Given the description of an element on the screen output the (x, y) to click on. 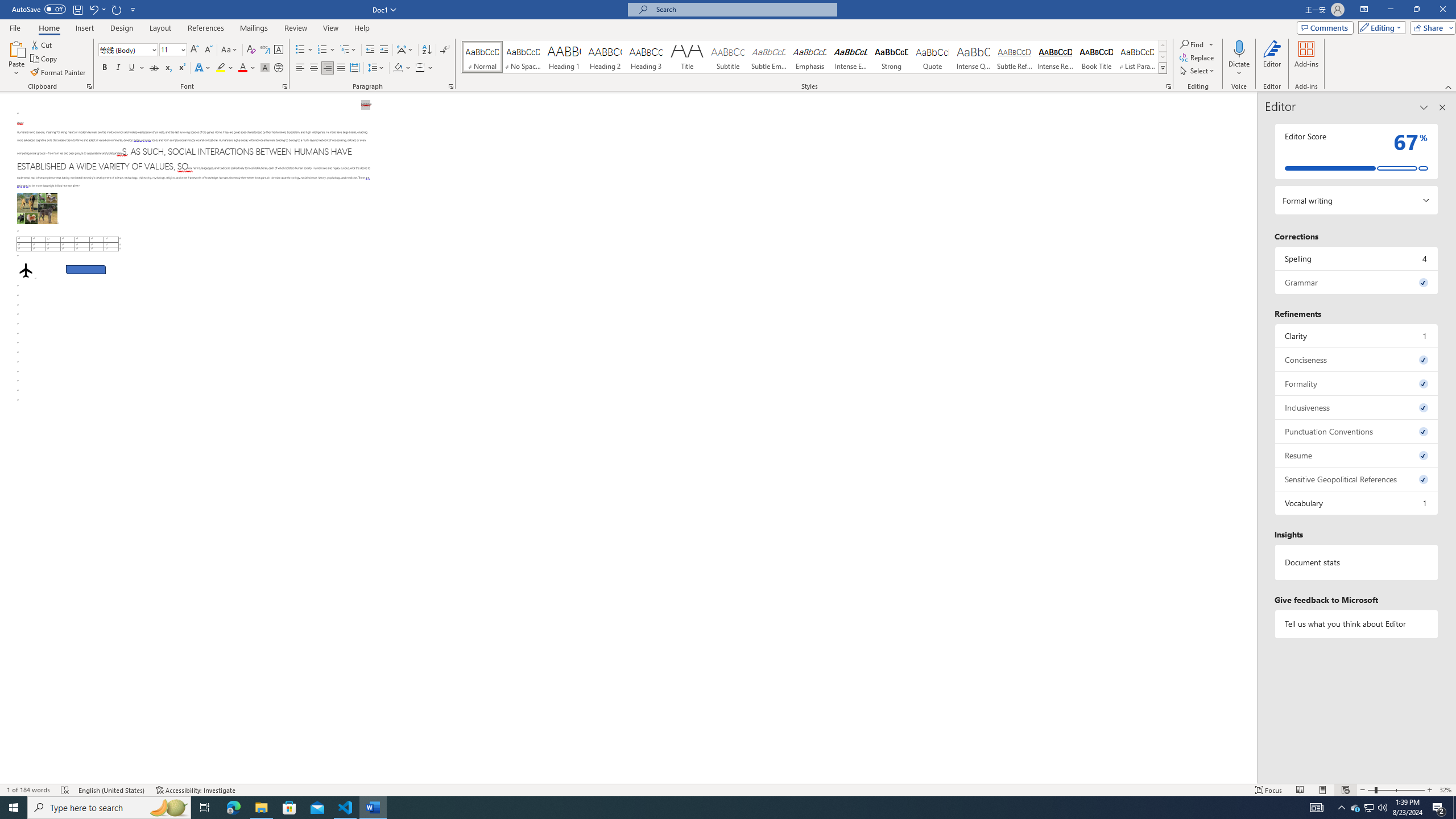
Strong (891, 56)
Clarity, 1 issue. Press space or enter to review items. (1356, 335)
Emphasis (809, 56)
